Given the description of an element on the screen output the (x, y) to click on. 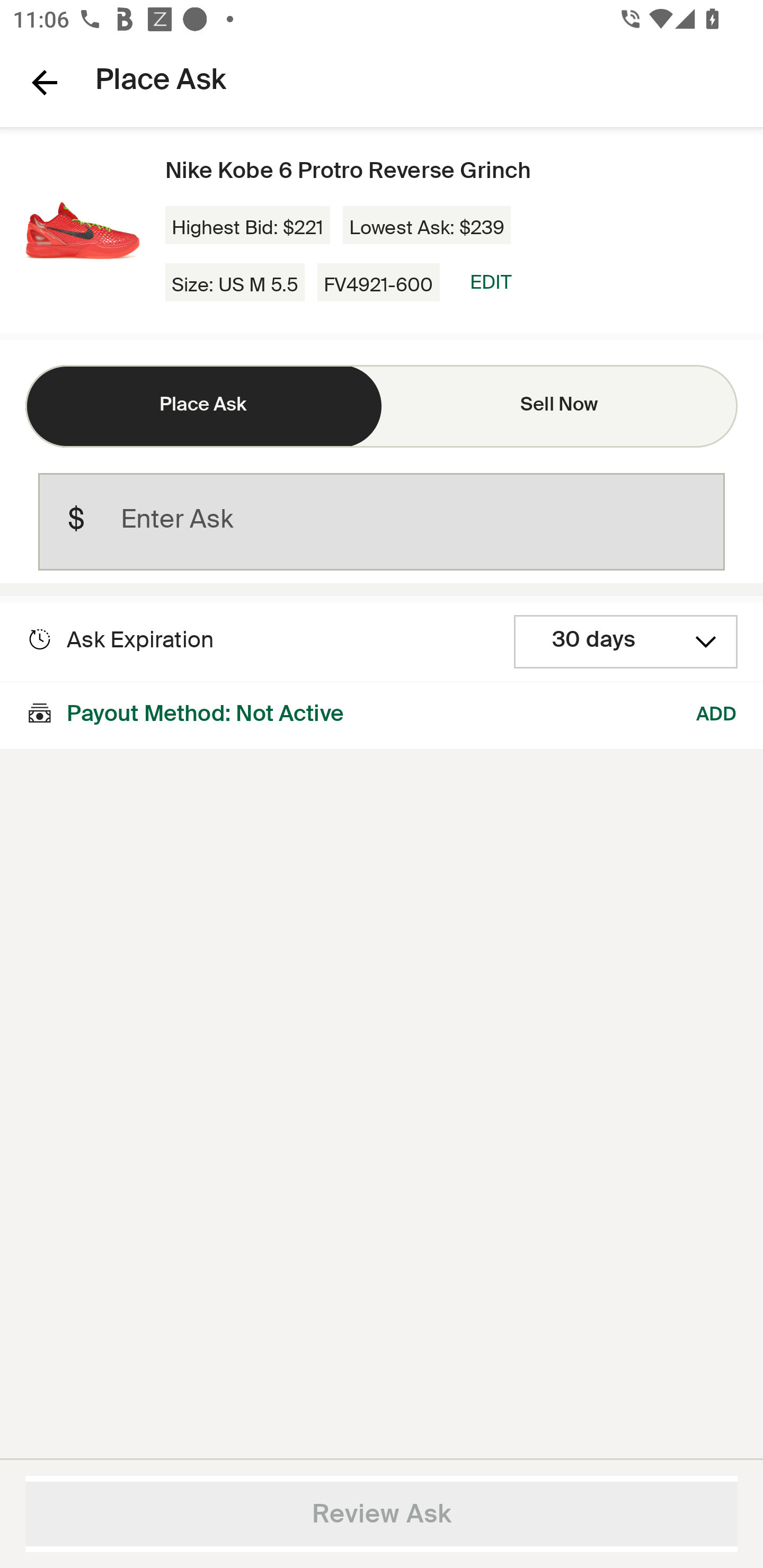
EDIT (490, 281)
Place Ask (203, 405)
Sell Now (559, 405)
$ Enter Ask (381, 521)
Expiration icon Ask Expiration (119, 640)
30 days Expiration dropdown arrow icon (625, 641)
ADD (717, 715)
reviewButtonContentDescriptionID Review Ask (381, 1513)
